Given the description of an element on the screen output the (x, y) to click on. 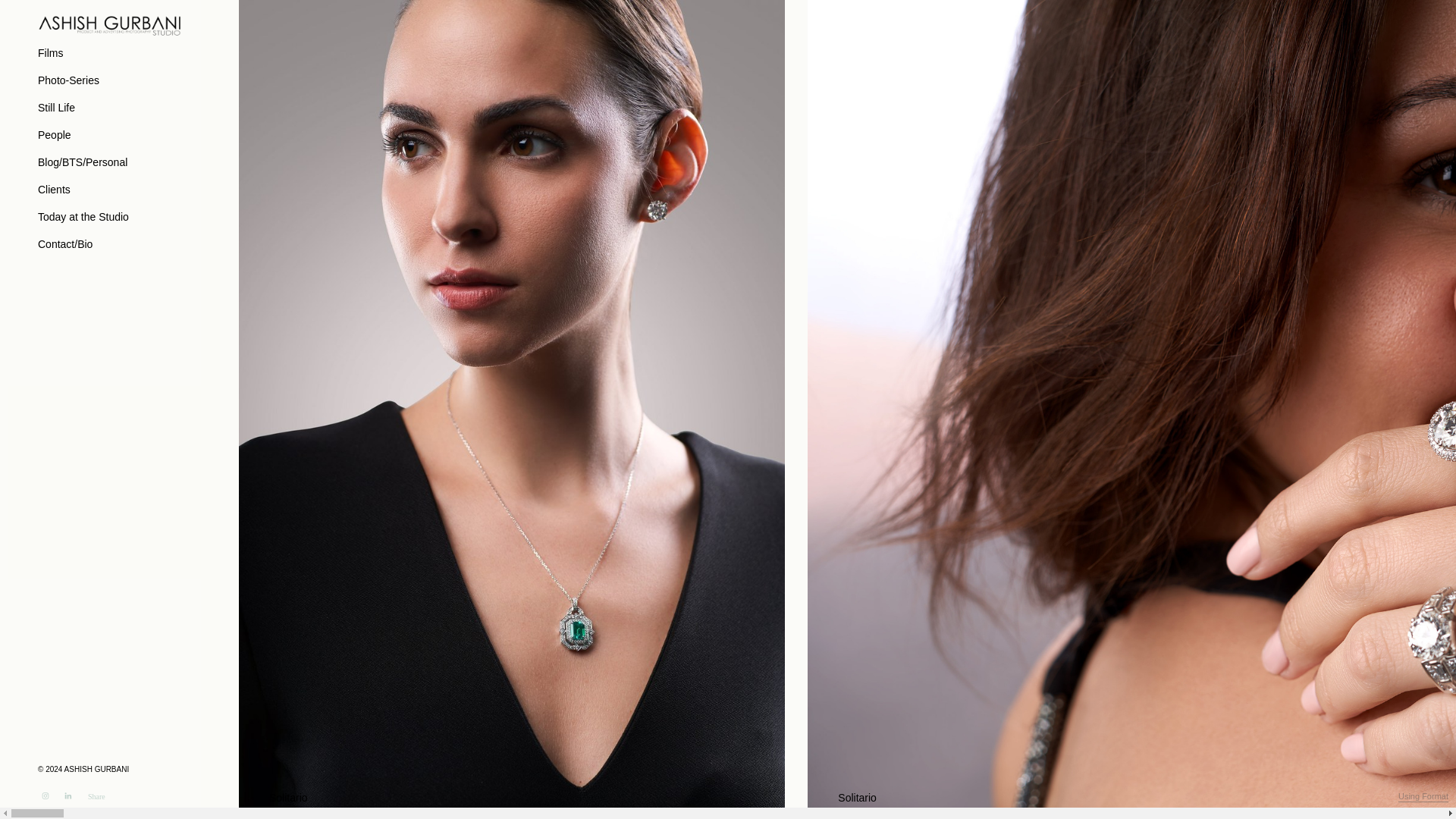
Films (49, 53)
People (54, 135)
Instagram (44, 795)
Share (95, 795)
Clients (53, 189)
Photo-Series (68, 80)
Today at the Studio (83, 217)
Still Life (56, 107)
LinkedIn (68, 795)
Using Format (1422, 796)
Share (95, 795)
